Given the description of an element on the screen output the (x, y) to click on. 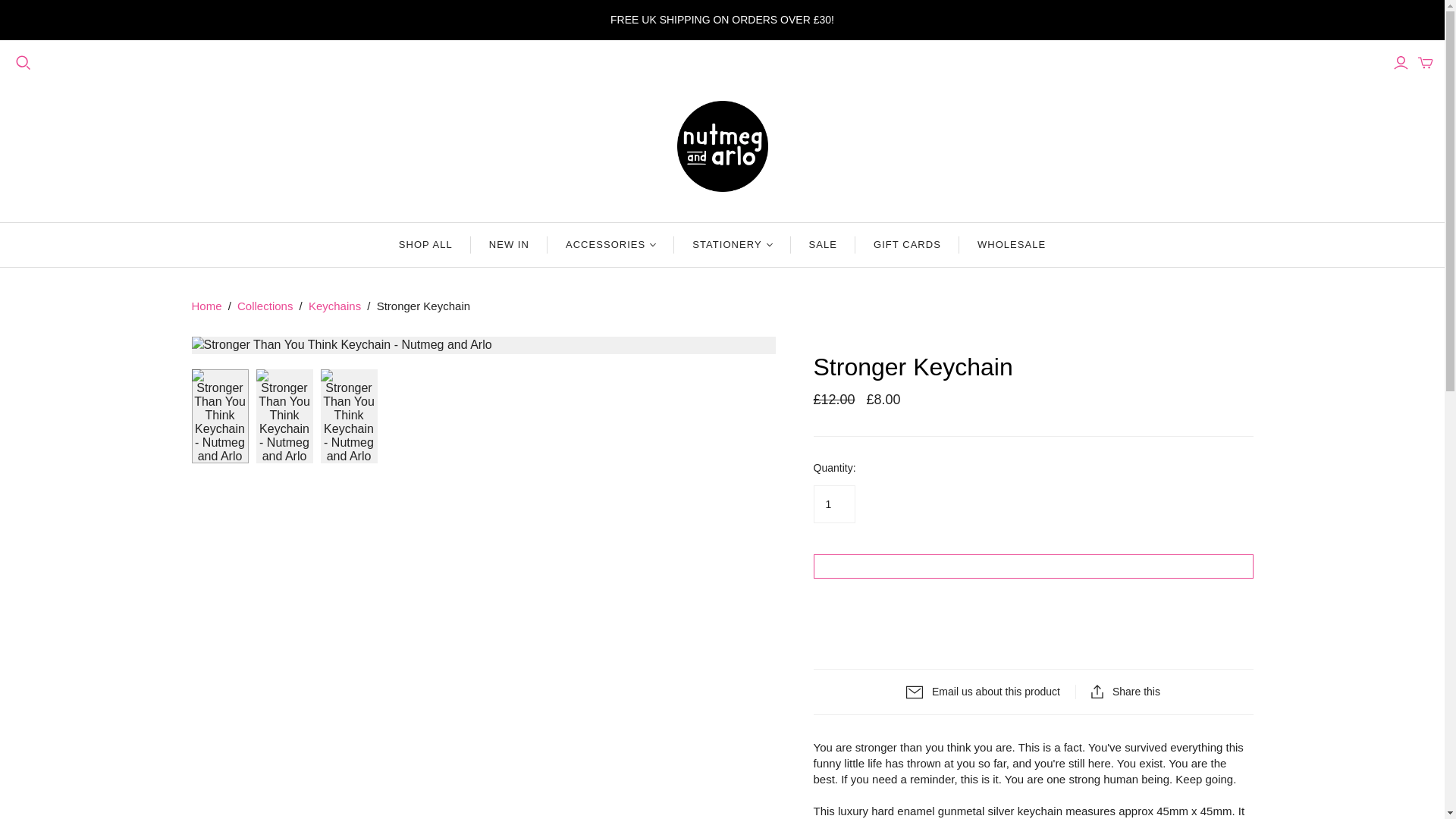
SHOP ALL (425, 244)
ACCESSORIES (610, 244)
STATIONERY (732, 244)
SALE (823, 244)
NEW IN (508, 244)
WHOLESALE (1011, 244)
1 (833, 504)
GIFT CARDS (907, 244)
